Given the description of an element on the screen output the (x, y) to click on. 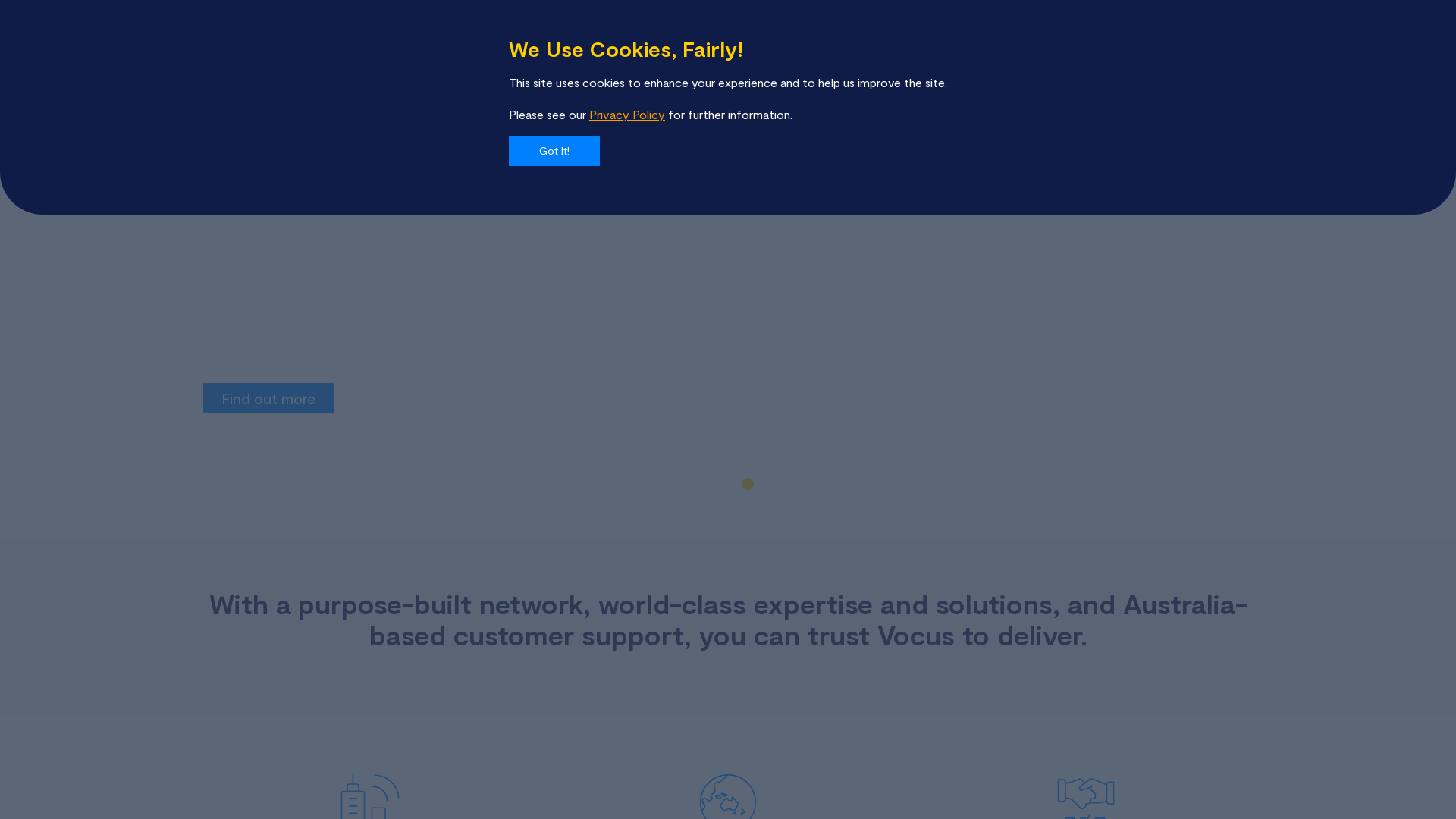
Request a quote Element type: text (1176, 41)
2 Element type: text (727, 483)
About Vocus Element type: text (416, 42)
1 Element type: text (708, 483)
3 Element type: text (747, 483)
Privacy Policy Element type: text (627, 113)
